Given the description of an element on the screen output the (x, y) to click on. 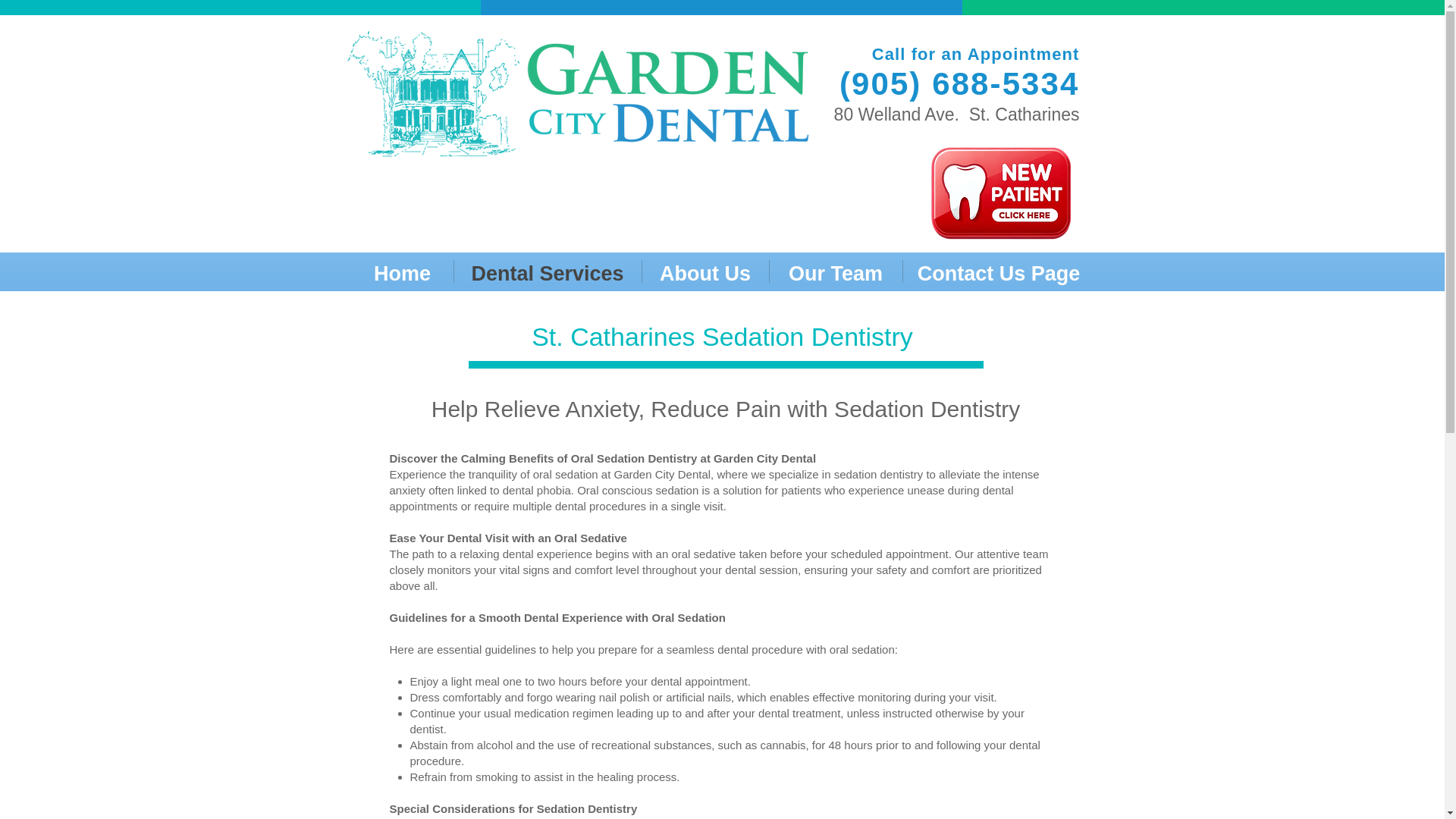
80 Welland Ave.  St. Catharines (957, 114)
Call for an Appointment (976, 54)
Dental Services (546, 271)
About Us (705, 271)
Our Team (834, 271)
Home (402, 271)
Contact Us Page (998, 271)
